Given the description of an element on the screen output the (x, y) to click on. 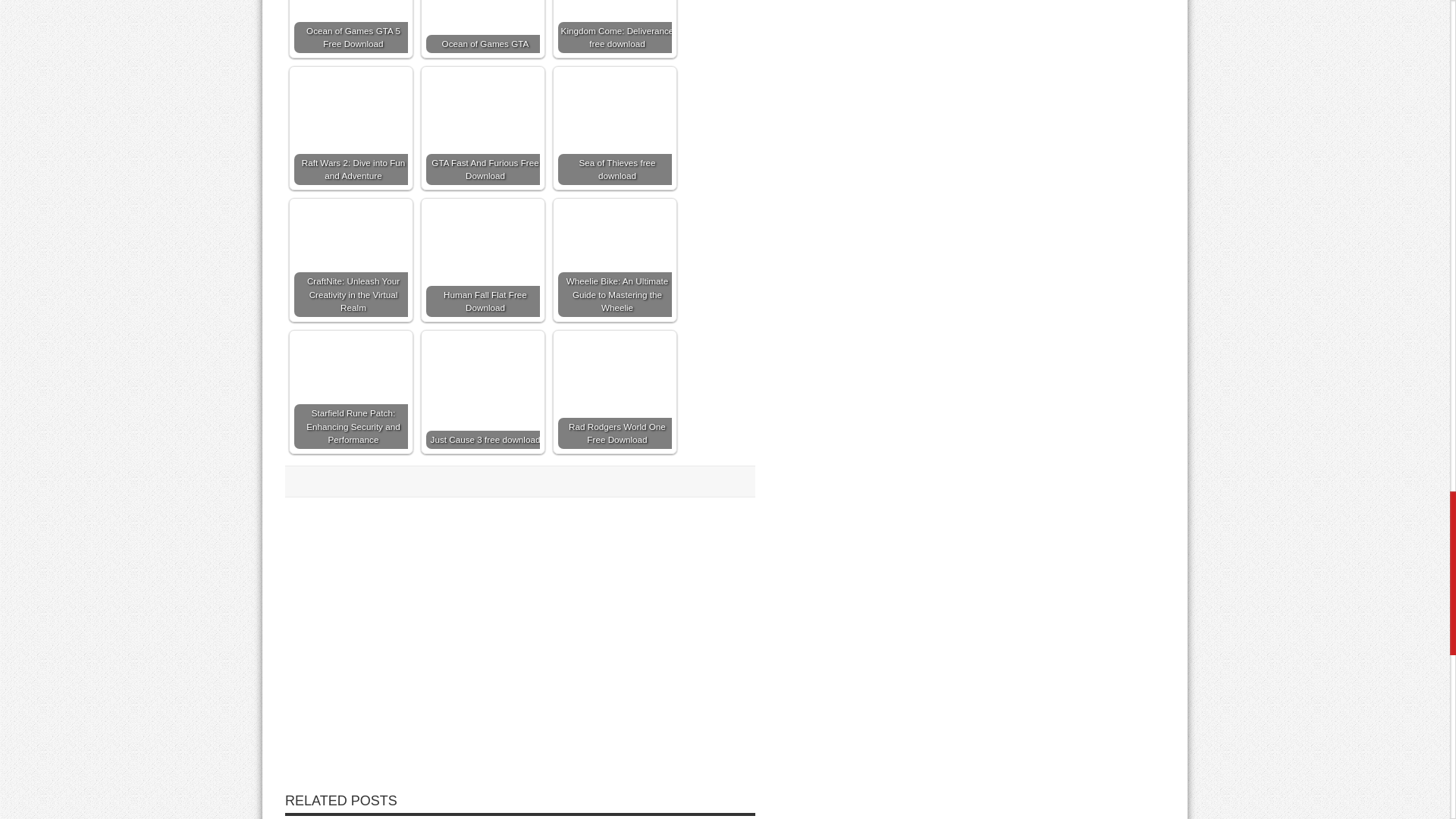
CraftNite: Unleash Your Creativity in the Virtual Realm (350, 259)
Kingdom Come: Deliverance free download (614, 26)
Starfield Rune Patch: Enhancing Security and Performance (350, 391)
Ocean of Games GTA 5 Free Download (350, 13)
Human Fall Flat Free Download (483, 237)
GTA Fast And Furious Free Download (483, 128)
Ocean of Games GTA (483, 14)
Sea of Thieves free download (614, 128)
Ocean of Games GTA (483, 26)
GTA Fast And Furious Free Download (483, 128)
Sea of Thieves free download (614, 99)
CraftNite: Unleash Your Creativity in the Virtual Realm (350, 259)
Rad Rodgers World One Free Download (614, 366)
Ocean of Games GTA 5 Free Download (350, 26)
Raft Wars 2: Dive into Fun and Adventure (350, 128)
